Given the description of an element on the screen output the (x, y) to click on. 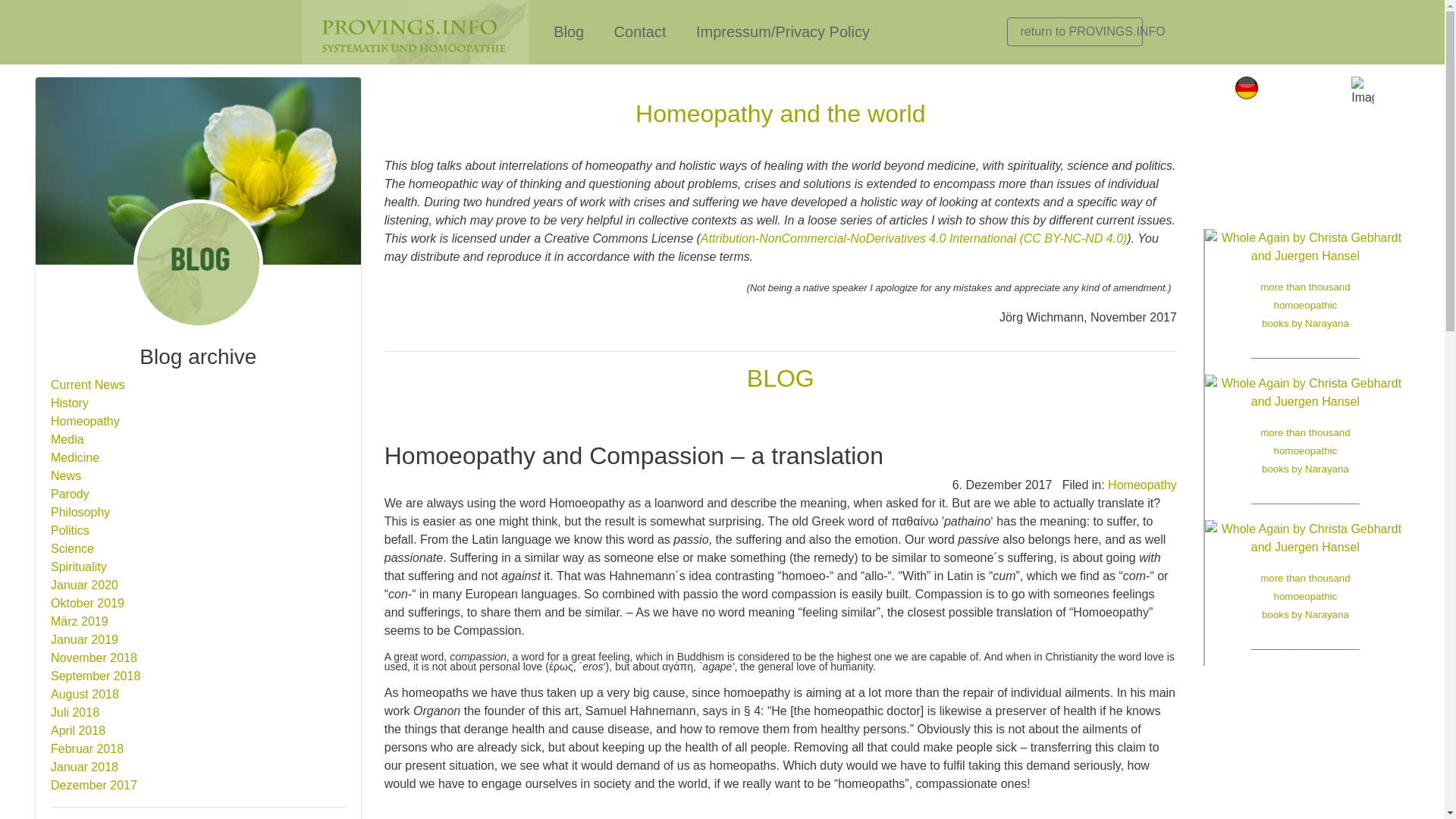
August 2018 (84, 694)
April 2018 (77, 730)
September 2018 (94, 675)
Juli 2018 (74, 712)
Homeopathy (84, 420)
Systematics and Homeopathy (1074, 31)
Blog (568, 32)
Oktober 2019 (86, 603)
Current News (87, 384)
Januar 2020 (83, 584)
